Given the description of an element on the screen output the (x, y) to click on. 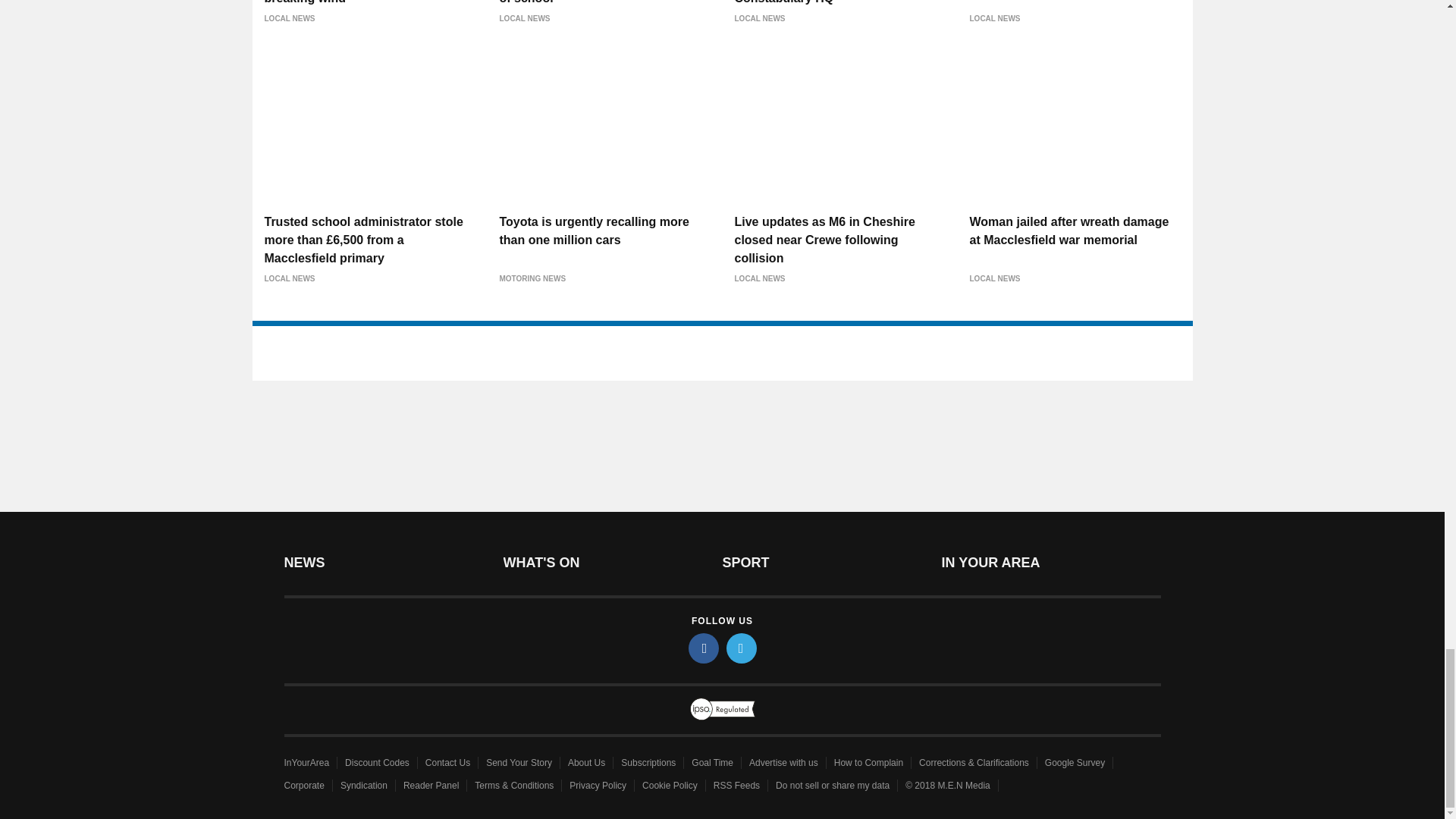
facebook (703, 648)
twitter (741, 648)
